Given the description of an element on the screen output the (x, y) to click on. 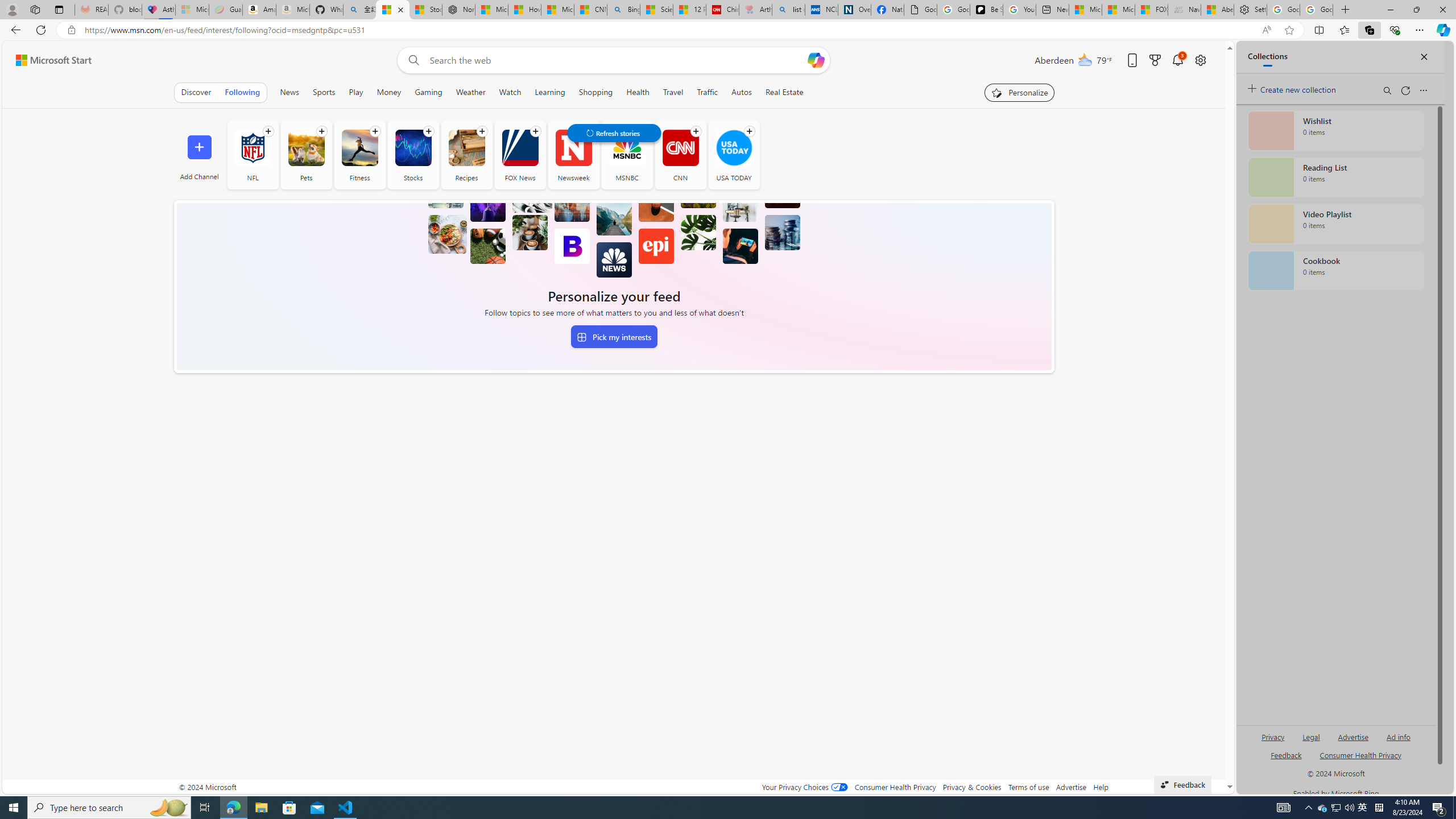
Gaming (428, 92)
Travel (672, 92)
FOX News (520, 147)
Learning (549, 92)
Shopping (596, 92)
Sports (323, 92)
Terms of use (1028, 786)
Help (1100, 786)
